Given the description of an element on the screen output the (x, y) to click on. 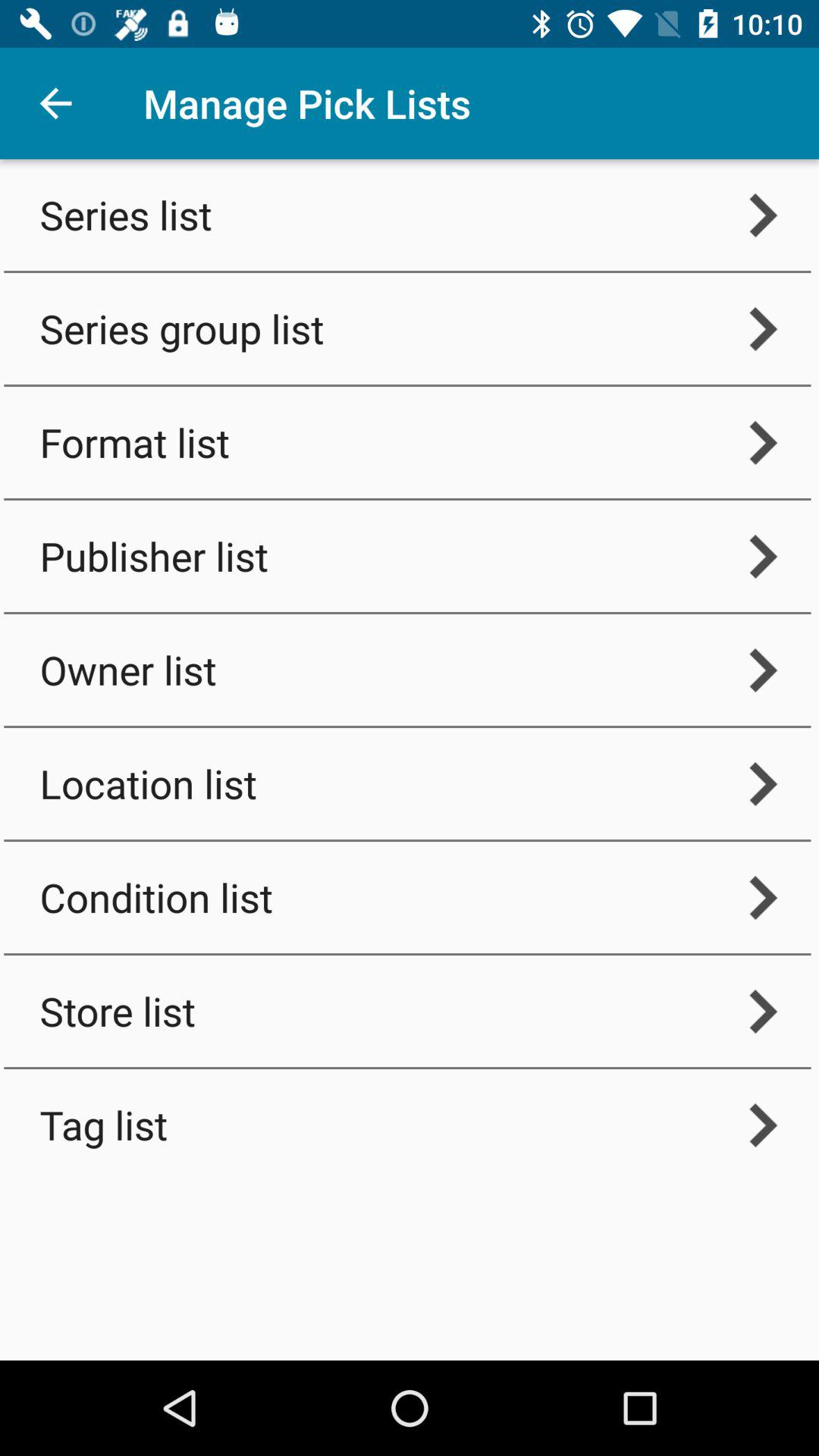
turn on item above the series list icon (55, 103)
